Given the description of an element on the screen output the (x, y) to click on. 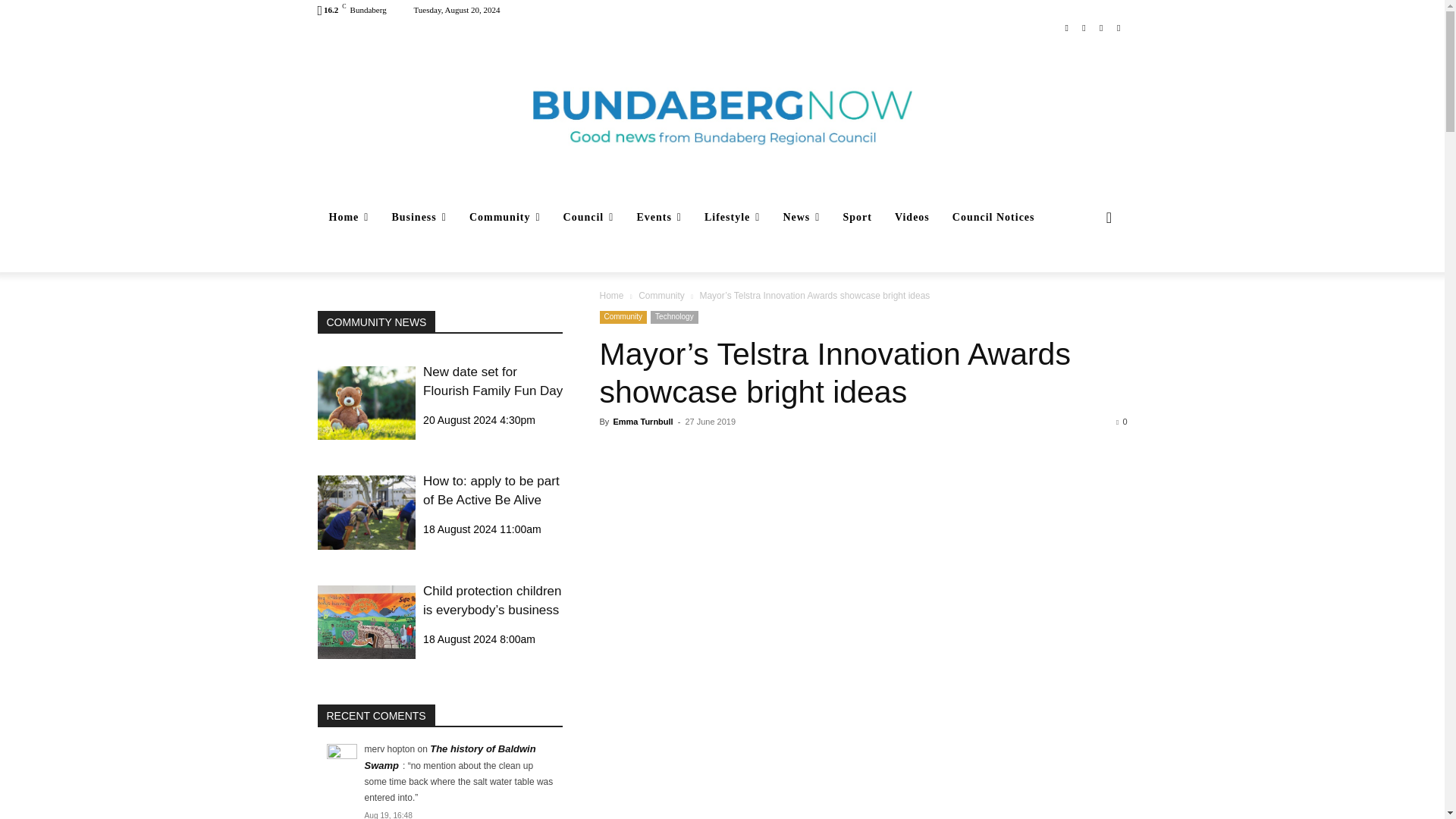
Facebook (1066, 27)
Bundaberg Now (721, 117)
Bundaberg Now (721, 117)
Instagram (1084, 27)
Youtube (1117, 27)
Home (348, 217)
Twitter (1101, 27)
